Given the description of an element on the screen output the (x, y) to click on. 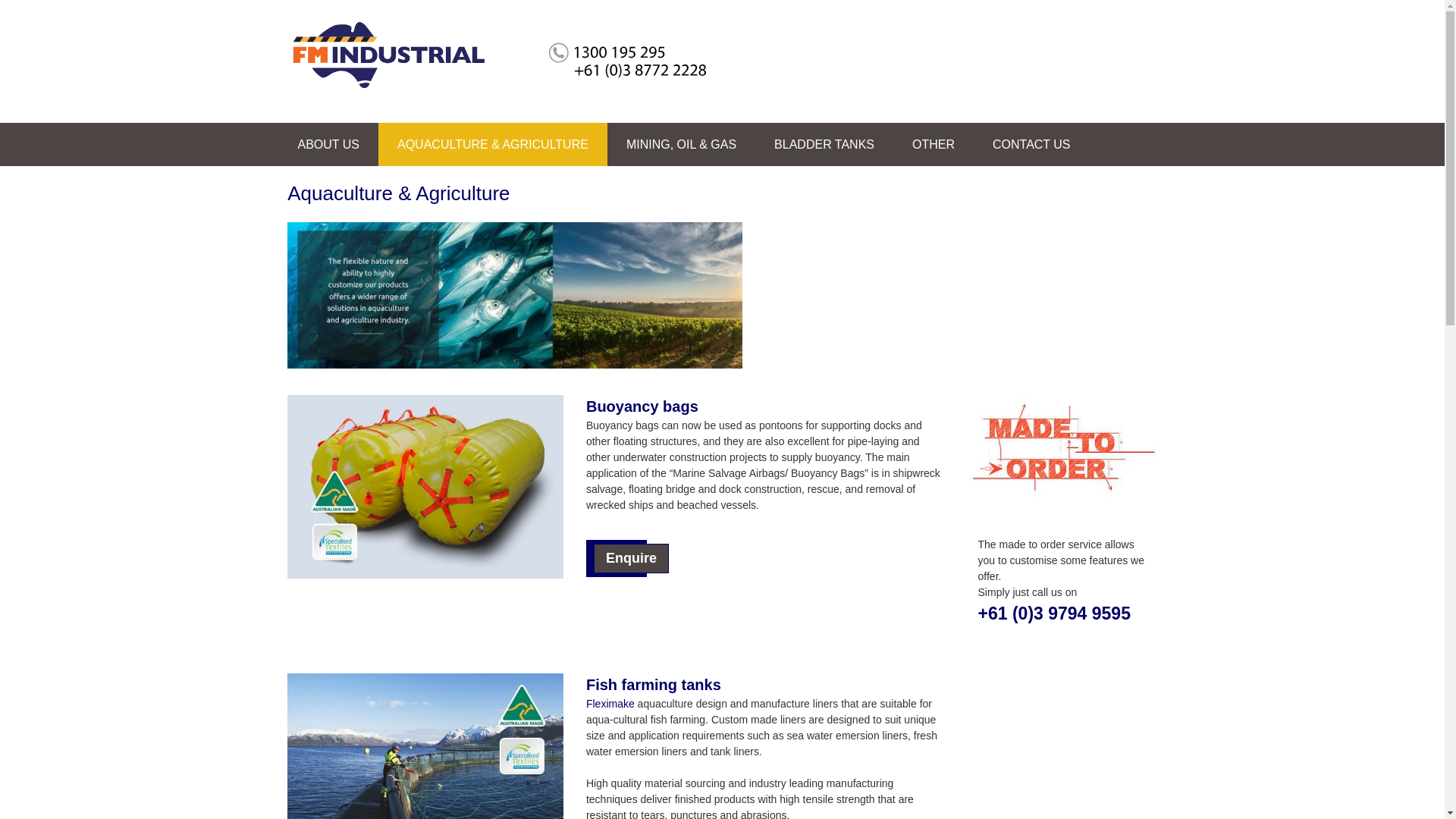
Fish farming tanks Element type: text (653, 684)
Fleximake Element type: text (610, 703)
CONTACT US Element type: text (1031, 144)
Buoyancy bags Element type: text (642, 406)
MINING, OIL & GAS Element type: text (681, 144)
made-to-order logo_https://fmindustrial.com.au/ Element type: hover (1062, 448)
SKIP TO CONTENT Element type: text (296, 122)
ABOUT US Element type: text (329, 144)
Enquire Element type: text (630, 558)
AQUACULTURE & AGRICULTURE Element type: text (492, 144)
OTHER Element type: text (933, 144)
Buoyancy bags_https://fmindustrial.com.au/ Element type: hover (425, 487)
BLADDER TANKS Element type: text (824, 144)
